Given the description of an element on the screen output the (x, y) to click on. 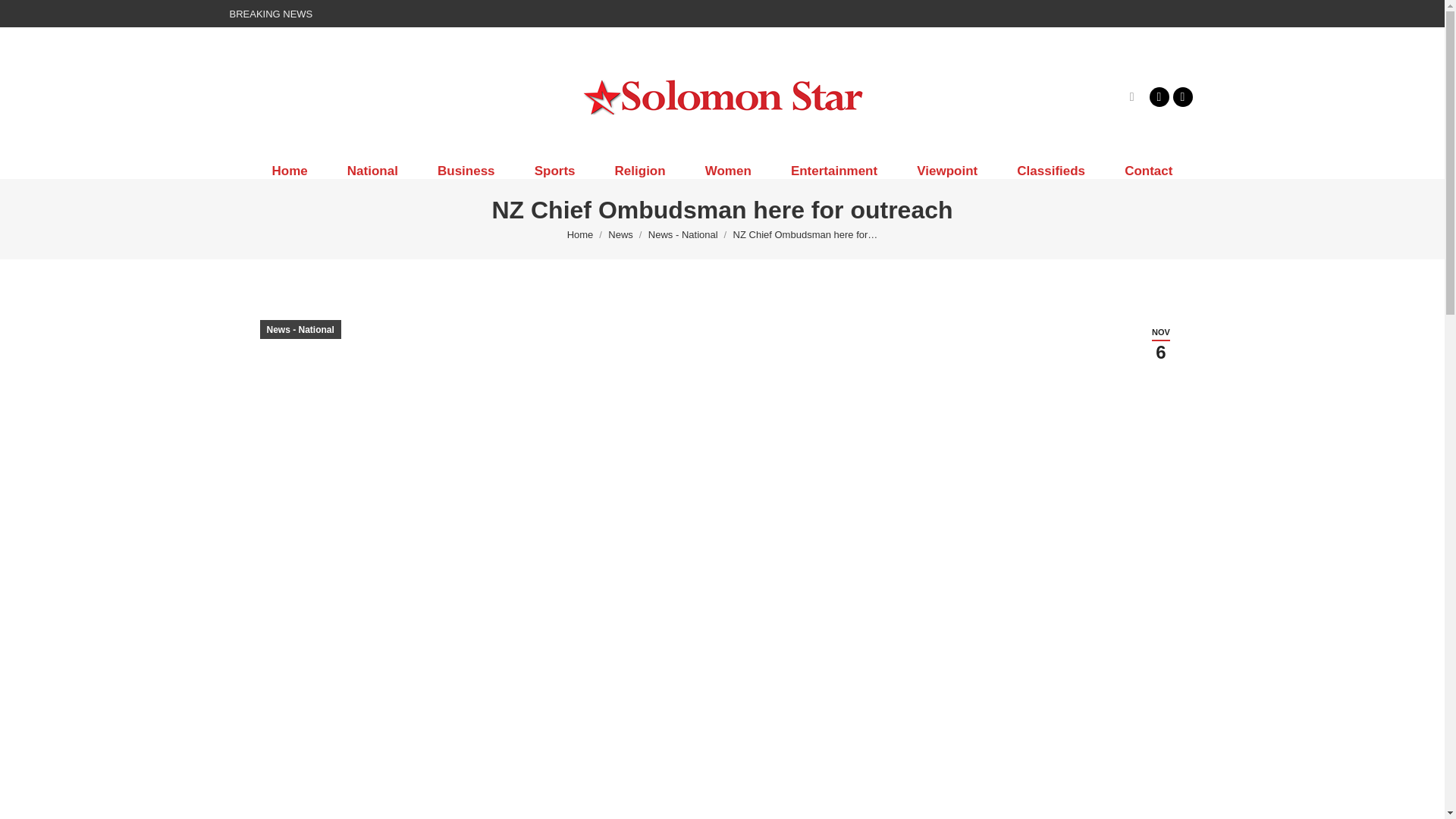
Entertainment (833, 170)
Facebook page opens in new window (1159, 96)
Religion (640, 170)
Women (728, 170)
Classifieds (1051, 170)
Home (580, 234)
Home (288, 170)
Business (466, 170)
National (372, 170)
Facebook page opens in new window (1159, 96)
